Given the description of an element on the screen output the (x, y) to click on. 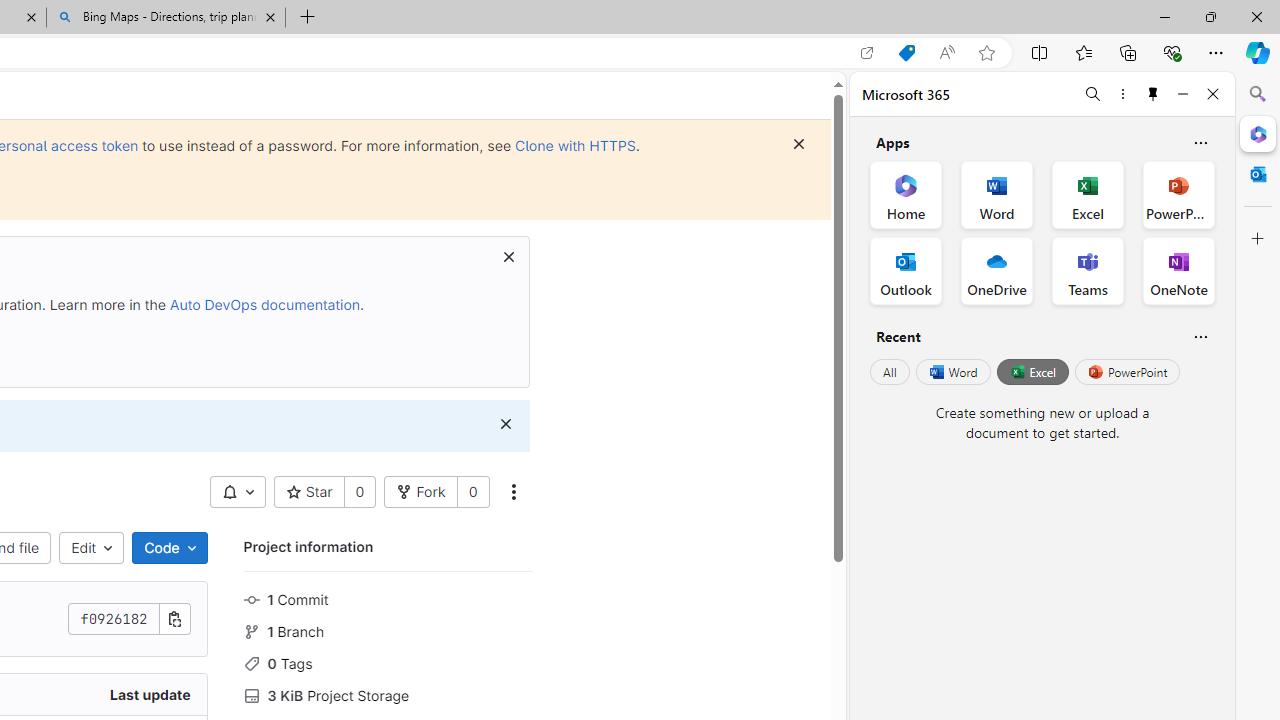
Class: s16 icon gl-mr-3 gl-text-gray-500 (251, 696)
Copy commit SHA (173, 619)
Browser essentials (1171, 52)
1 Branch (387, 629)
Is this helpful? (1200, 336)
Dismiss (505, 423)
Copilot (Ctrl+Shift+.) (1258, 52)
0 Tags (387, 662)
Excel (1031, 372)
Split screen (1039, 52)
1 Commit (387, 597)
OneDrive Office App (996, 270)
Code (169, 547)
Excel Office App (1087, 194)
